Given the description of an element on the screen output the (x, y) to click on. 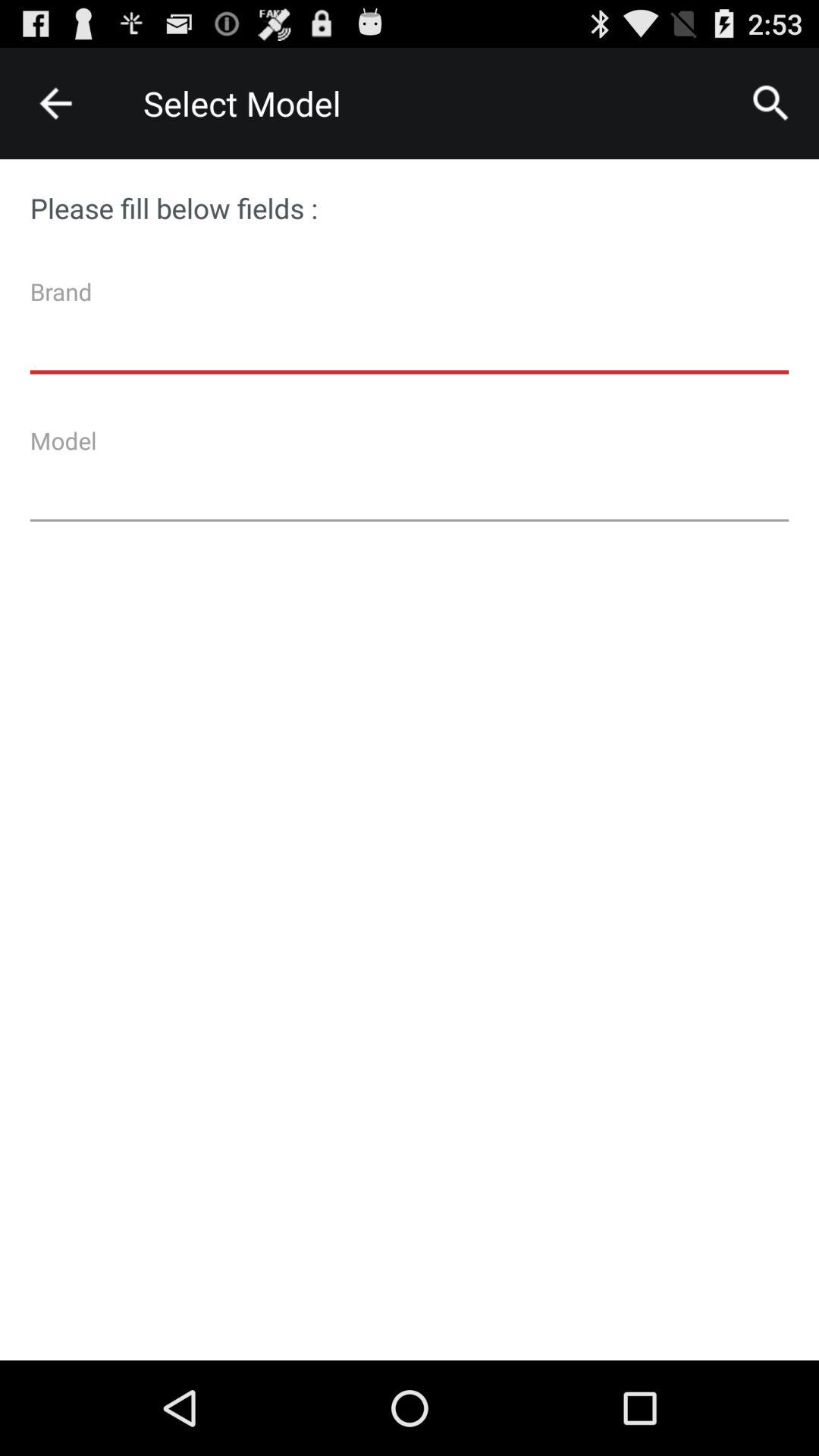
model text box (409, 480)
